Given the description of an element on the screen output the (x, y) to click on. 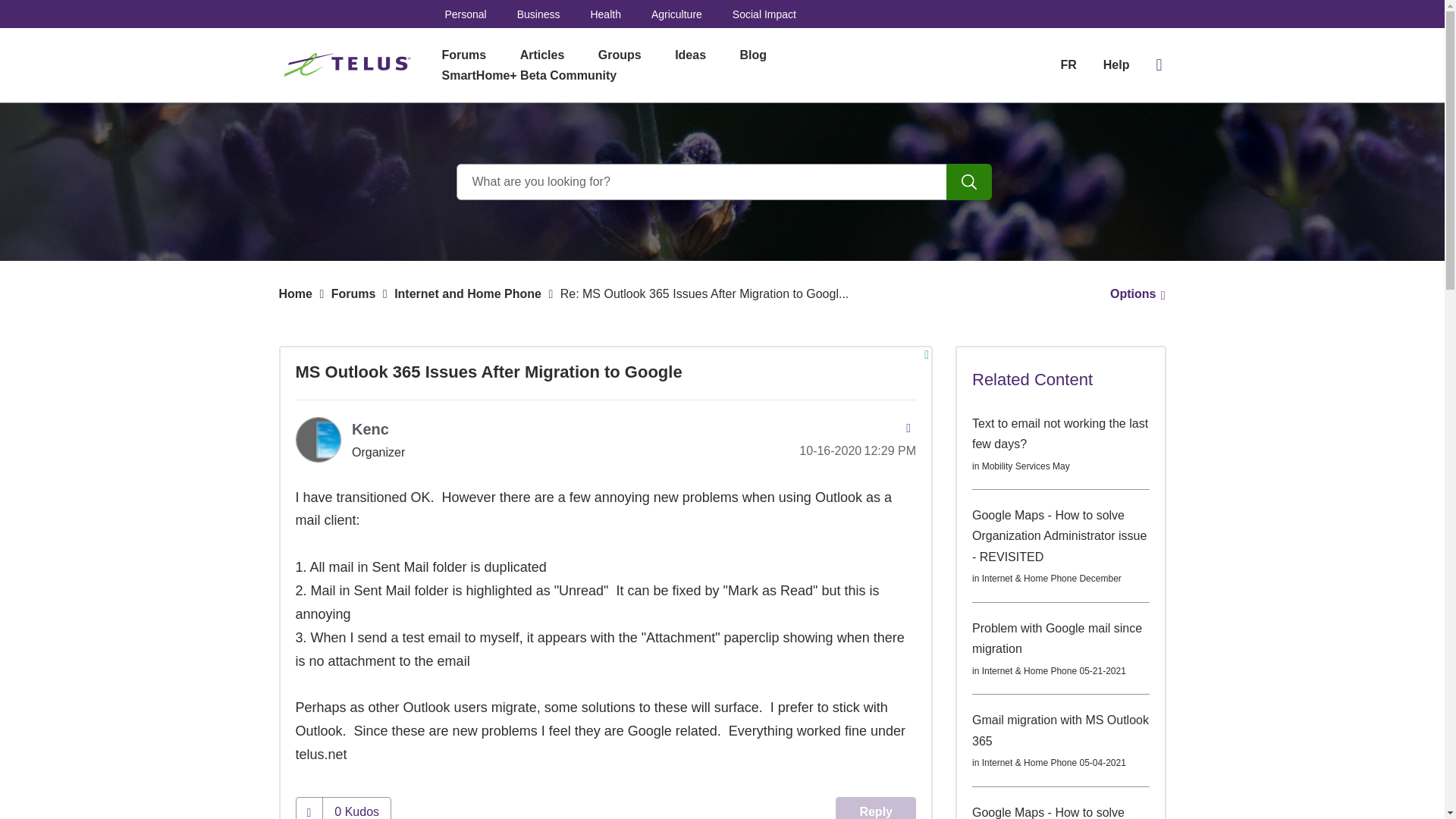
Articles (542, 55)
Show option menu (1133, 294)
Business (538, 14)
Click here to give kudos to this post. (309, 808)
Kenc (317, 439)
Forums (463, 55)
Forums (353, 293)
Internet and Home Phone (467, 293)
Help (1116, 64)
Home (296, 293)
Ideas (689, 55)
Search (968, 181)
FR (1067, 64)
Groups (619, 55)
Social Impact (764, 14)
